Given the description of an element on the screen output the (x, y) to click on. 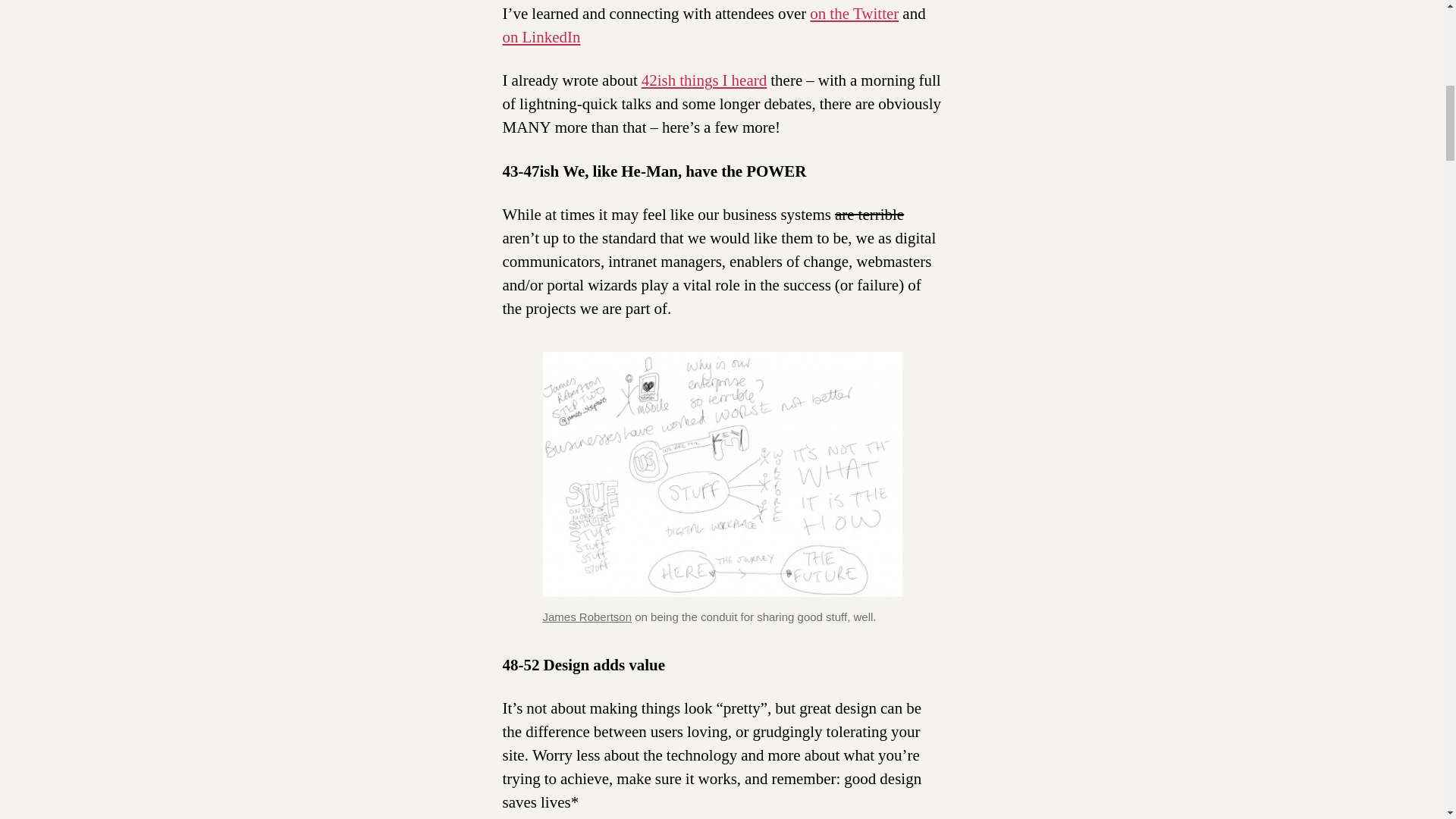
James Robertson (587, 616)
on the Twitter (853, 14)
42ish things I heard (704, 80)
on LinkedIn (540, 37)
